Given the description of an element on the screen output the (x, y) to click on. 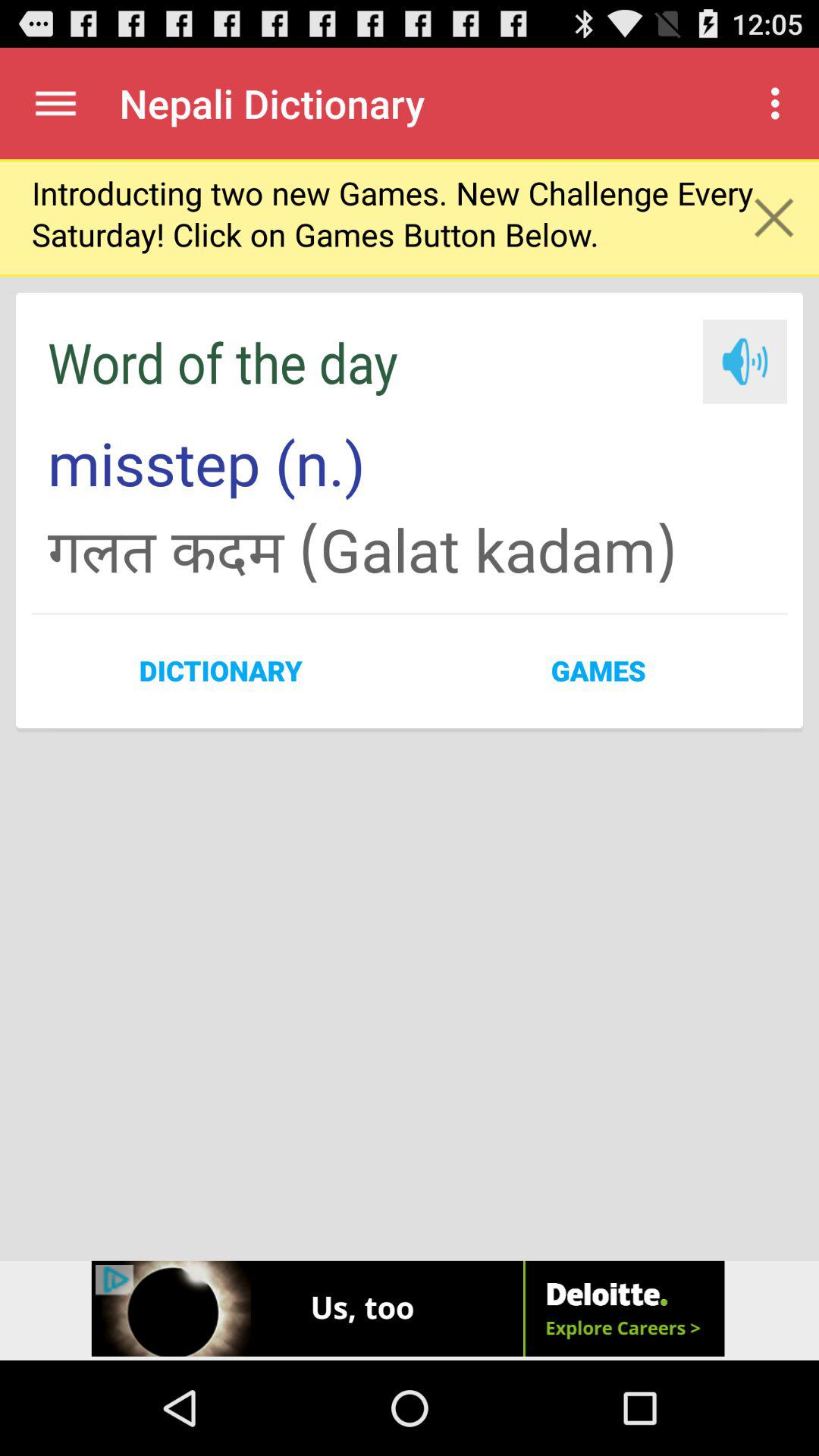
turn off the app next to the nepali dictionary app (779, 103)
